Given the description of an element on the screen output the (x, y) to click on. 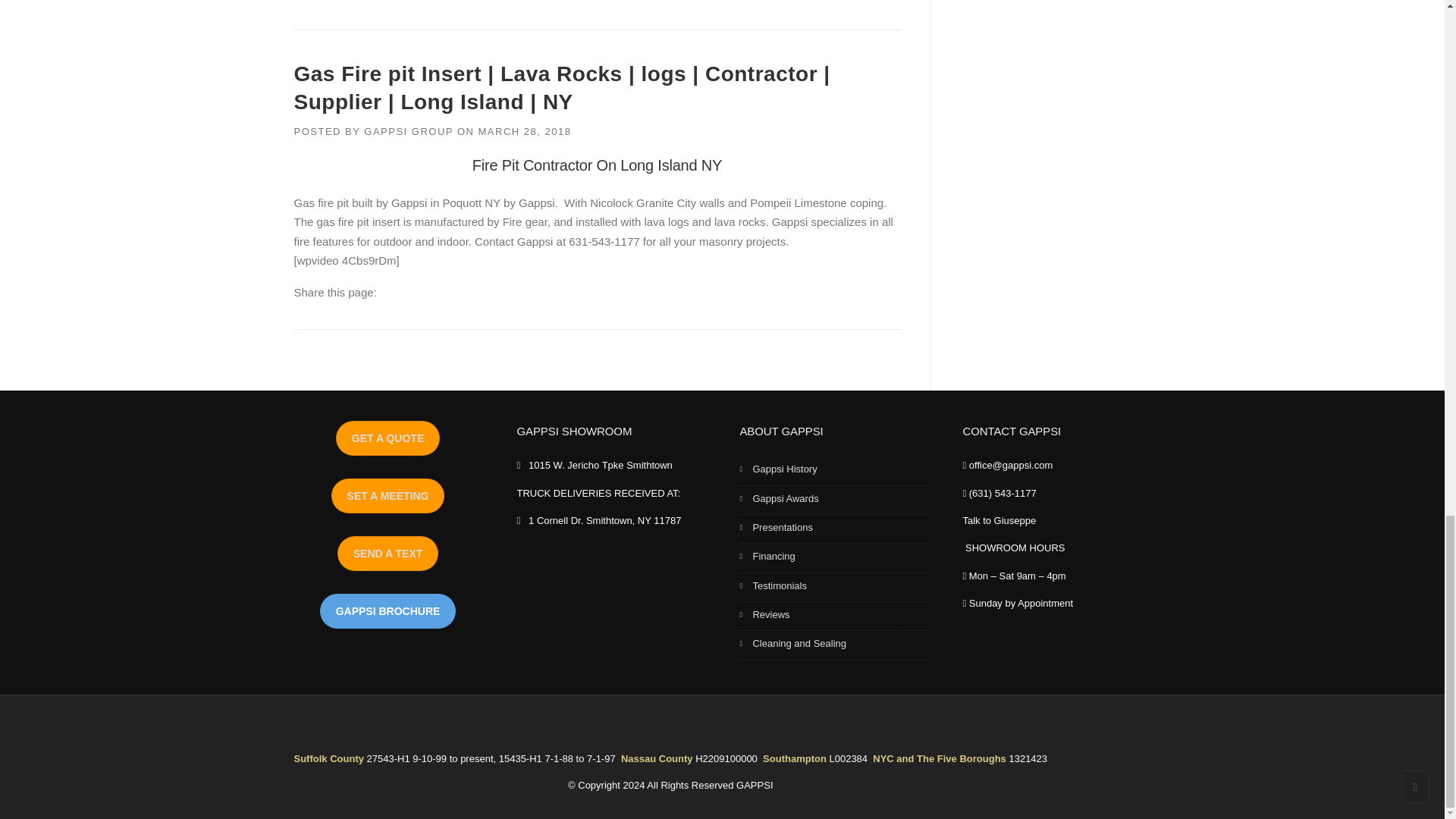
MARCH 28, 2018 (523, 131)
GAPPSI GROUP (408, 131)
Fire Pit Contractor On Long Island NY (596, 165)
